Given the description of an element on the screen output the (x, y) to click on. 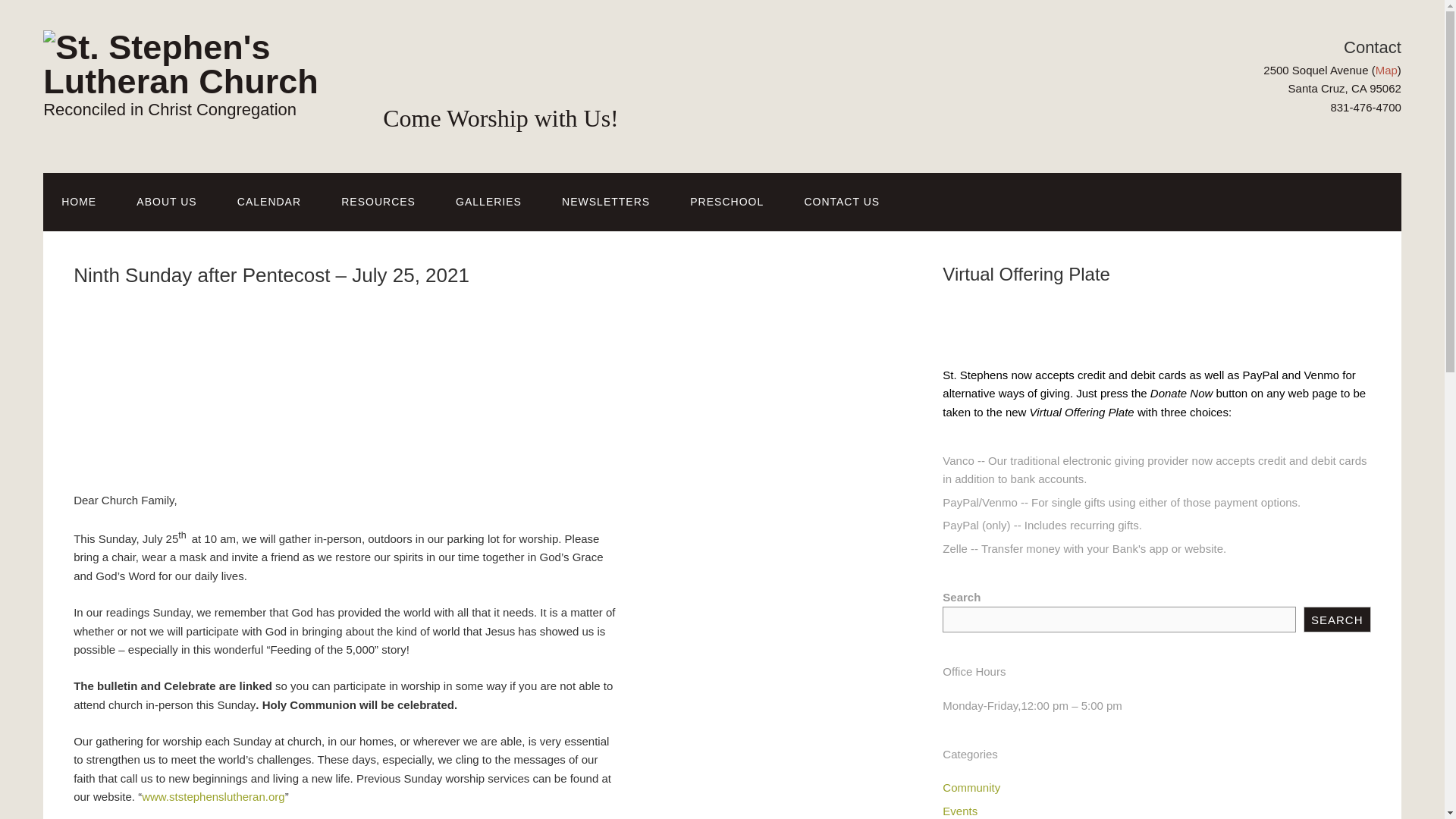
Map (1386, 69)
CONTACT US (842, 201)
www.ststephenslutheran.org (212, 796)
RESOURCES (378, 201)
St. Stephen's Lutheran Church (194, 81)
SEARCH (1337, 619)
CALENDAR (268, 201)
Events (959, 810)
GALLERIES (489, 201)
HOME (79, 201)
ABOUT US (165, 201)
PRESCHOOL (726, 201)
NEWSLETTERS (605, 201)
Community (971, 787)
